Given the description of an element on the screen output the (x, y) to click on. 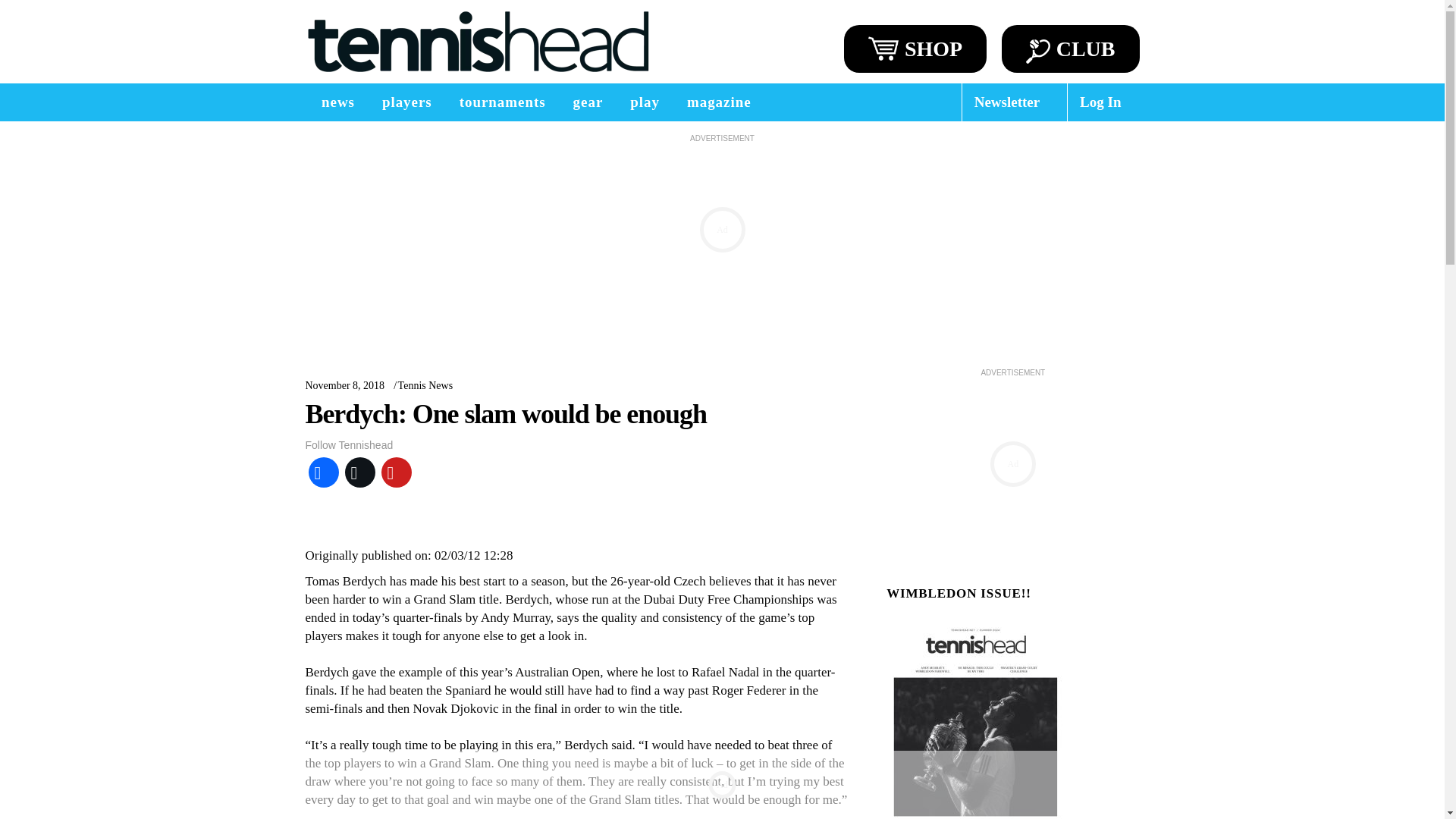
CLUB (1070, 48)
players (406, 102)
play (643, 102)
YouTube (395, 472)
gear (588, 102)
news (337, 102)
tournaments (502, 102)
Facebook (322, 472)
YouTube (395, 472)
Facebook (322, 472)
SHOP (915, 48)
